Given the description of an element on the screen output the (x, y) to click on. 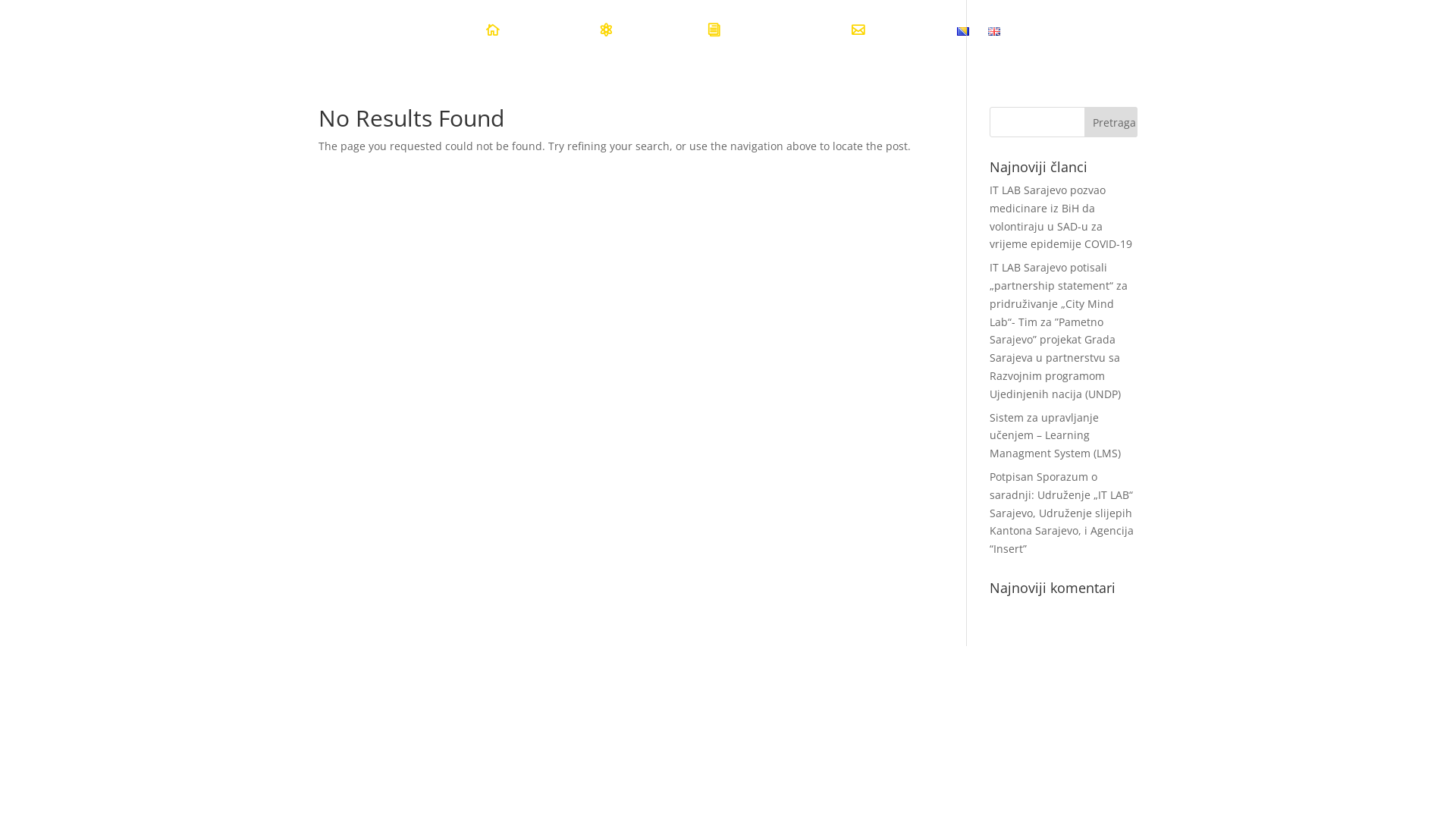
Aktuelnosti Element type: text (762, 43)
O nama Element type: text (636, 43)
Kontakt Element type: text (891, 43)
Pretraga Element type: text (1110, 121)
